Given the description of an element on the screen output the (x, y) to click on. 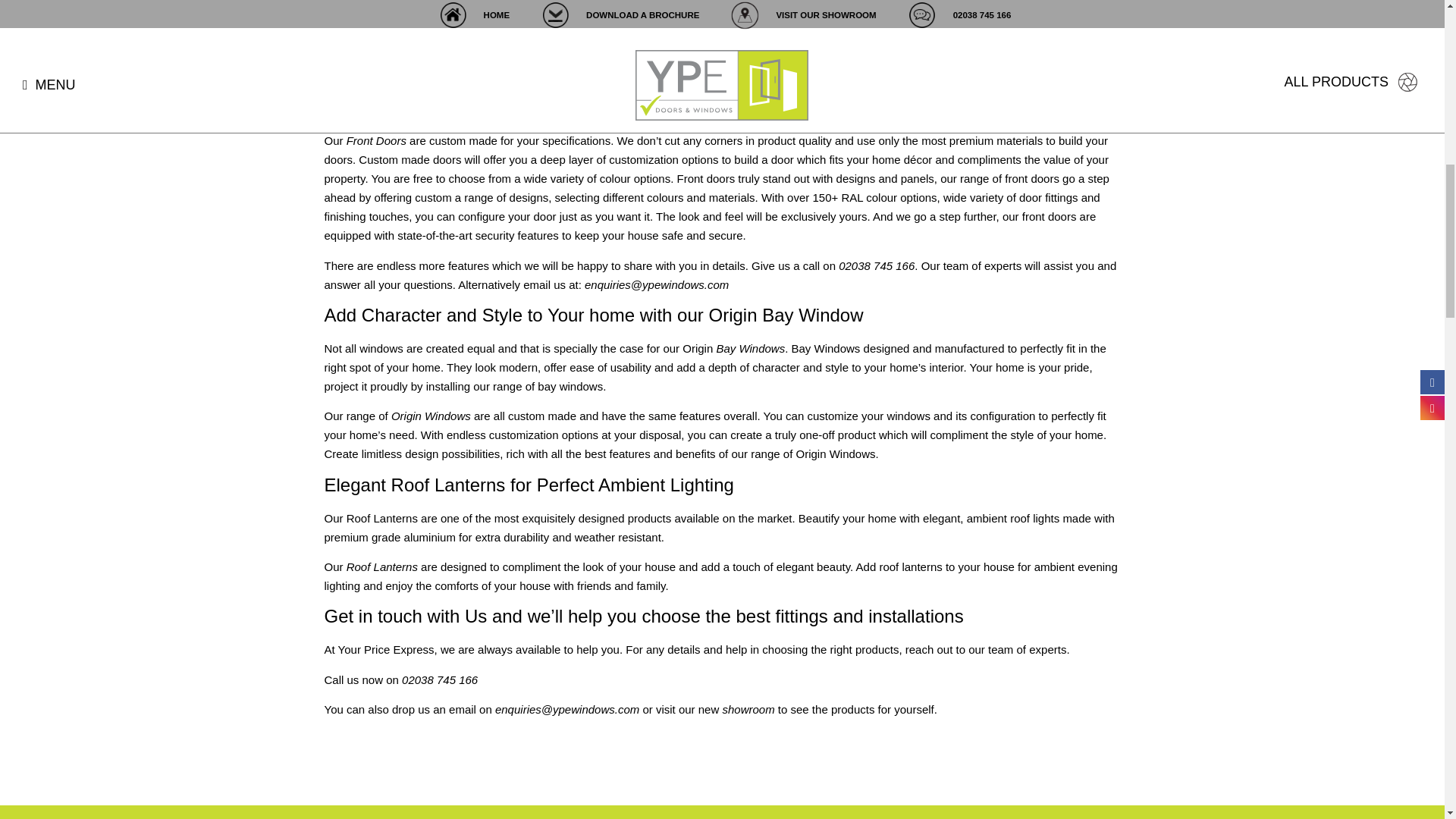
Roof Lanterns (381, 566)
Front Doors (376, 140)
02038 745 166 (874, 265)
showroom (748, 708)
Origin Windows (430, 415)
Bay Windows (750, 348)
02038 745 166 (439, 679)
